Given the description of an element on the screen output the (x, y) to click on. 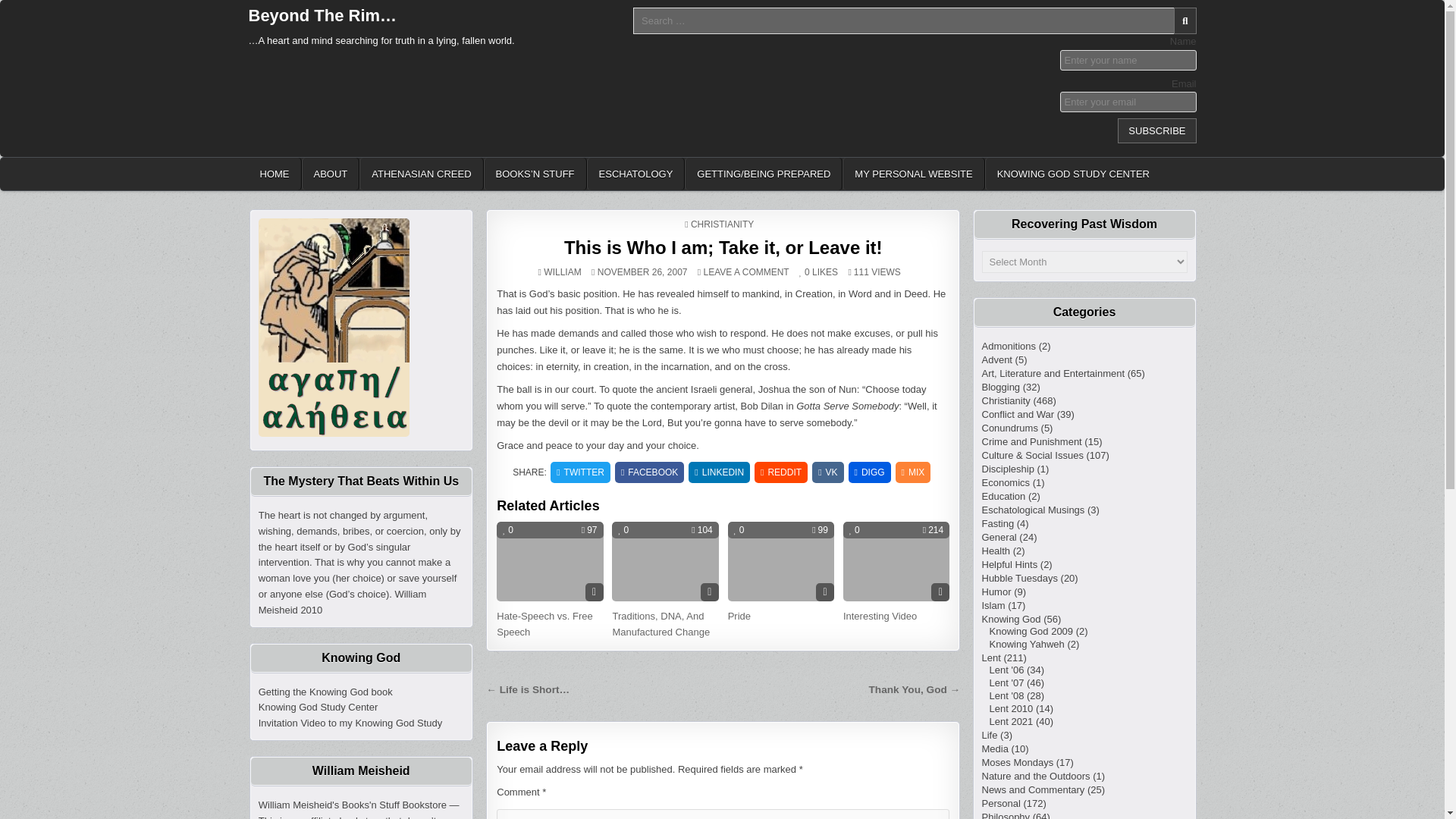
Share this on Digg (869, 472)
111 Views (857, 271)
Share this on Reddit (781, 472)
Share this on Linkedin (718, 472)
ABOUT (330, 174)
Like this (507, 529)
Hate-Speech vs. Free Speech (544, 624)
0 (622, 529)
REDDIT (781, 472)
0 (804, 271)
Permanent Link to Hate-Speech vs. Free Speech (549, 561)
0 (507, 529)
MIX (913, 472)
97 Views (588, 529)
Like this (804, 271)
